Given the description of an element on the screen output the (x, y) to click on. 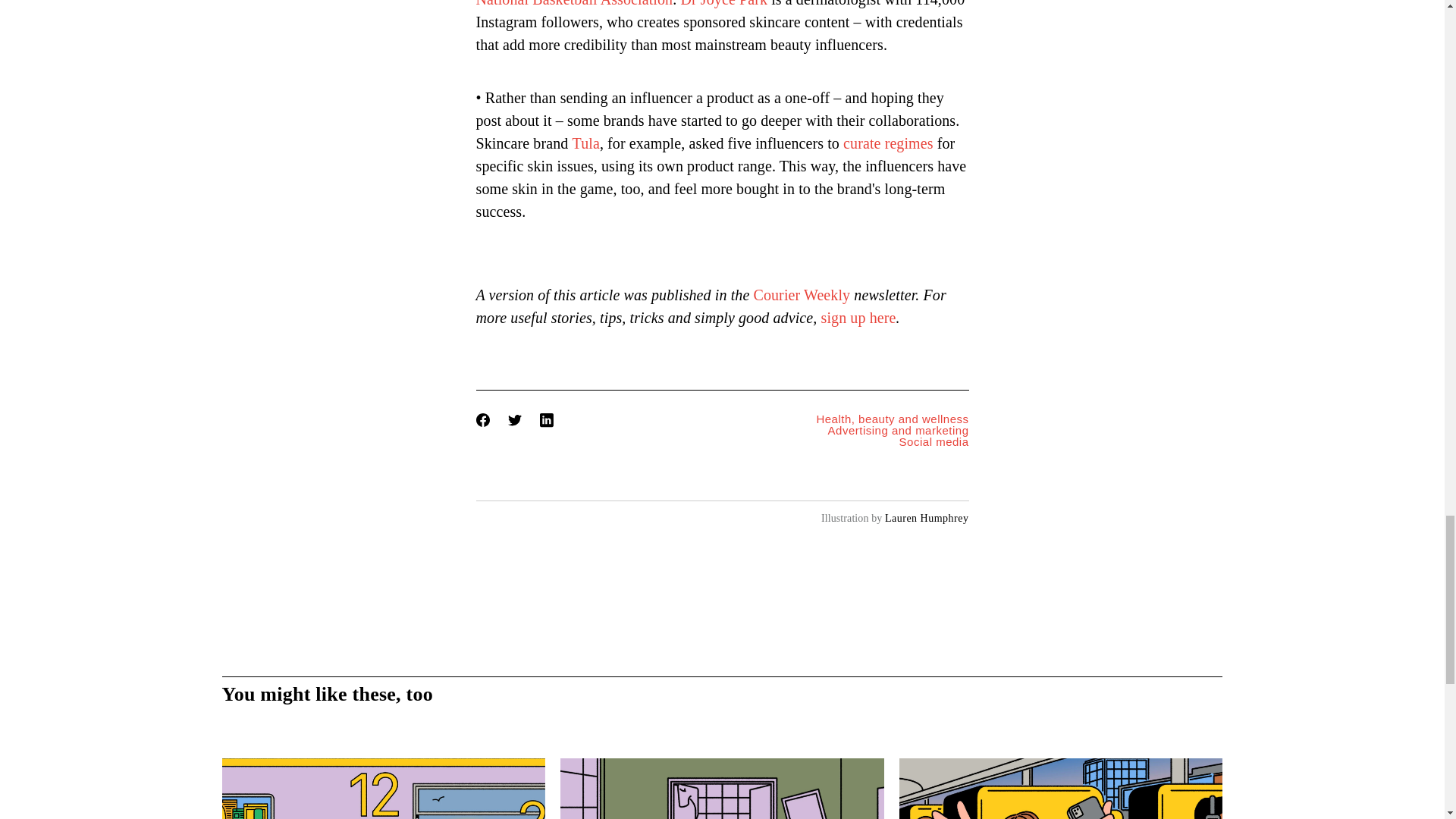
Women's National Basketball Association (698, 3)
Social media (382, 788)
Courier Weekly (891, 441)
sign up here (801, 294)
Advertising and marketing (858, 317)
Health, beauty and wellness (891, 430)
Tula (891, 419)
